Given the description of an element on the screen output the (x, y) to click on. 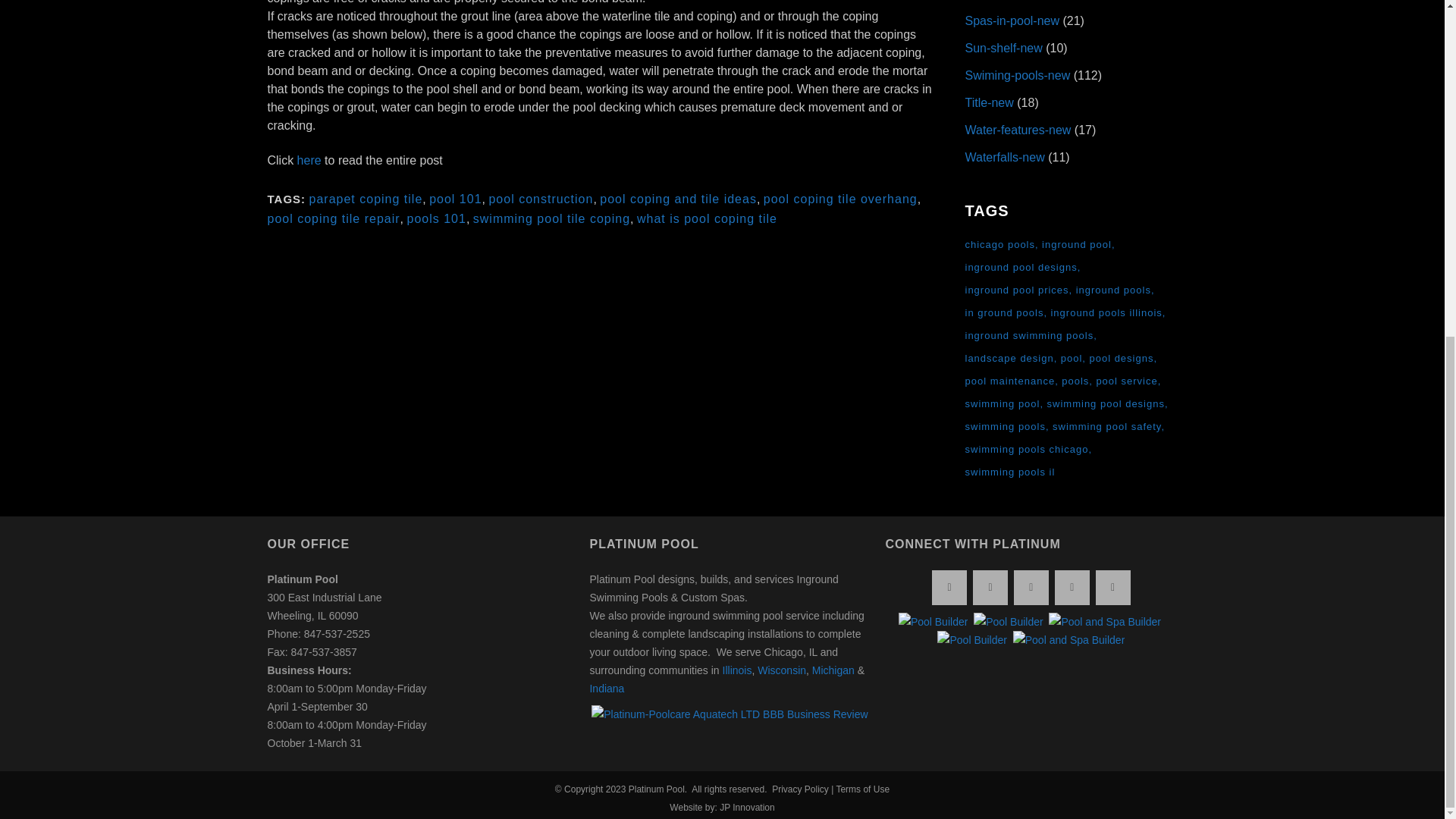
Pool and Spa builder (1069, 639)
Pool builder (933, 621)
Pool builder (1008, 621)
Pool builder (972, 639)
Pool and Spa builder (1104, 621)
